Given the description of an element on the screen output the (x, y) to click on. 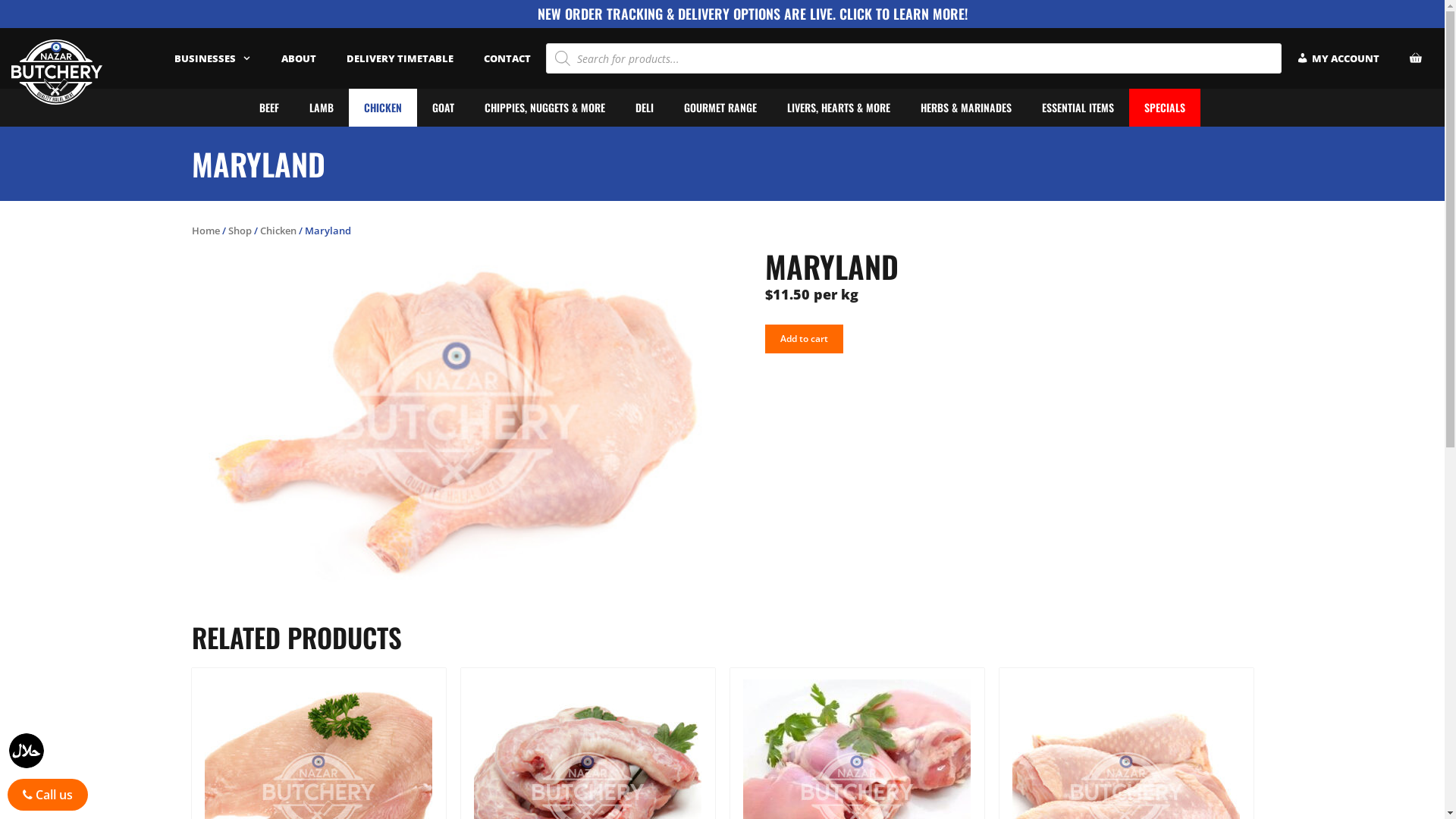
Chicken Element type: text (277, 230)
MY ACCOUNT Element type: text (1337, 58)
LIVERS, HEARTS & MORE Element type: text (838, 107)
Call us Element type: text (47, 794)
HERBS & MARINADES Element type: text (965, 107)
chicken-maryland Element type: hover (456, 423)
Shop Element type: text (239, 230)
BUSINESSES Element type: text (212, 58)
CHICKEN Element type: text (382, 107)
CONTACT Element type: text (507, 58)
Add to cart Element type: text (803, 338)
LAMB Element type: text (321, 107)
BEEF Element type: text (269, 107)
View your shopping cart Element type: hover (1415, 58)
ABOUT Element type: text (298, 58)
DELI Element type: text (644, 107)
GOURMET RANGE Element type: text (719, 107)
Home Element type: text (205, 230)
GOAT Element type: text (443, 107)
CHIPPIES, NUGGETS & MORE Element type: text (544, 107)
SPECIALS Element type: text (1164, 107)
ESSENTIAL ITEMS Element type: text (1077, 107)
DELIVERY TIMETABLE Element type: text (399, 58)
